Given the description of an element on the screen output the (x, y) to click on. 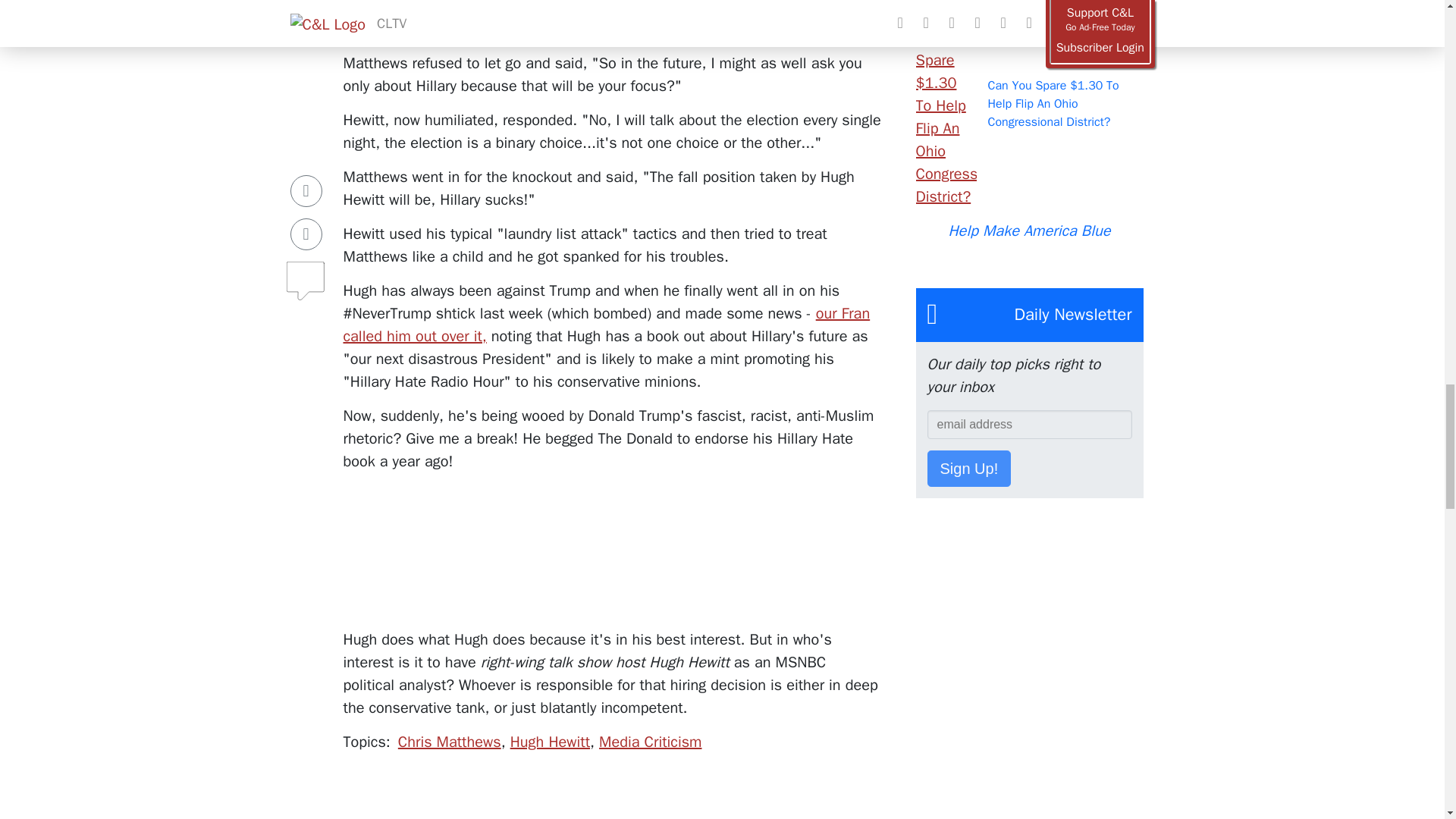
Media Criticism (649, 741)
our Fran called him out over it, (605, 324)
Hugh Hewitt (550, 741)
Chris Matthews (448, 741)
